Given the description of an element on the screen output the (x, y) to click on. 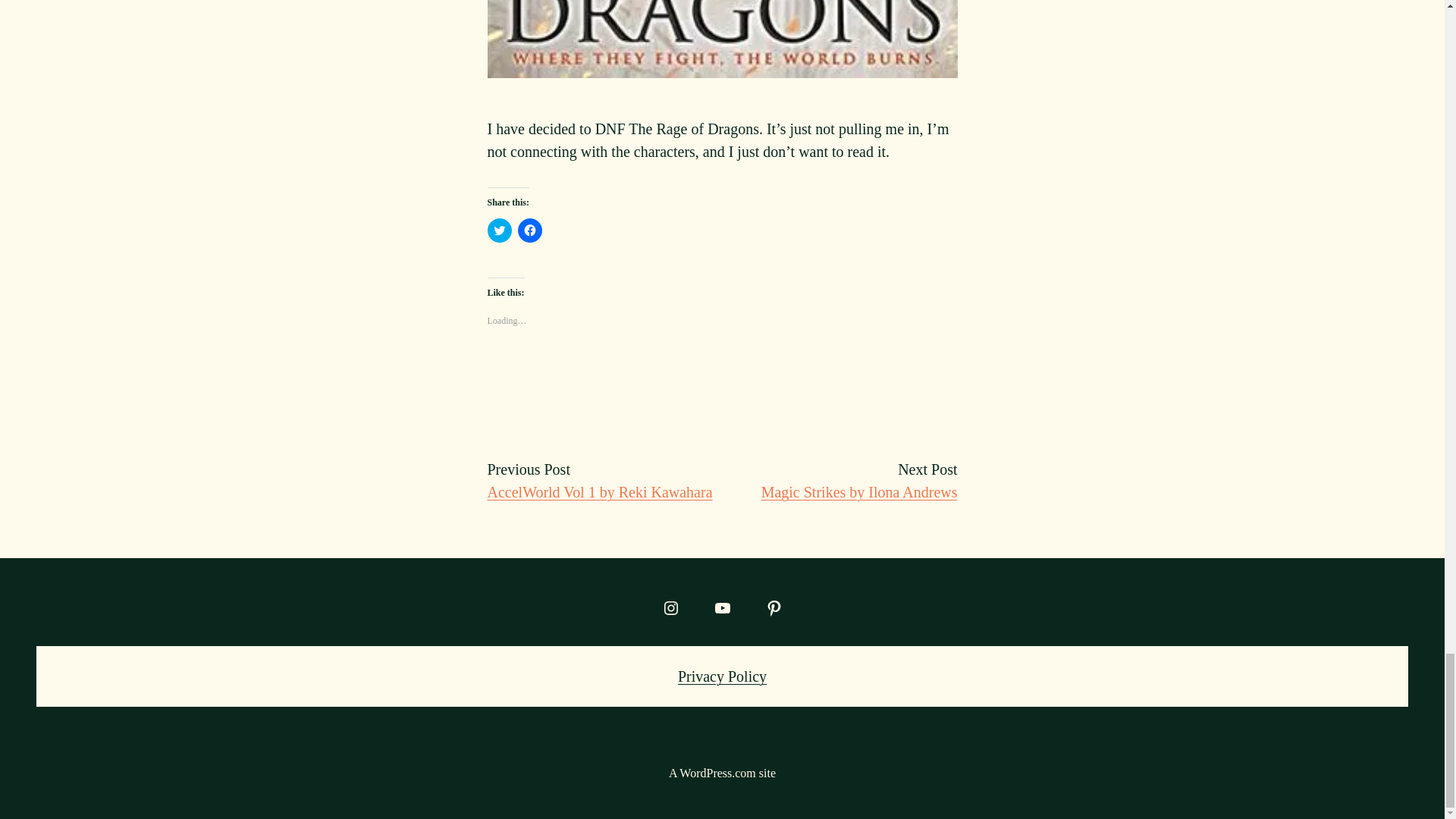
Instagram (670, 607)
Pinterest (773, 607)
Privacy Policy (722, 676)
YouTube (721, 607)
Magic Strikes by Ilona Andrews (859, 492)
Click to share on Twitter (498, 230)
Click to share on Facebook (528, 230)
AccelWorld Vol 1 by Reki Kawahara (598, 492)
